Given the description of an element on the screen output the (x, y) to click on. 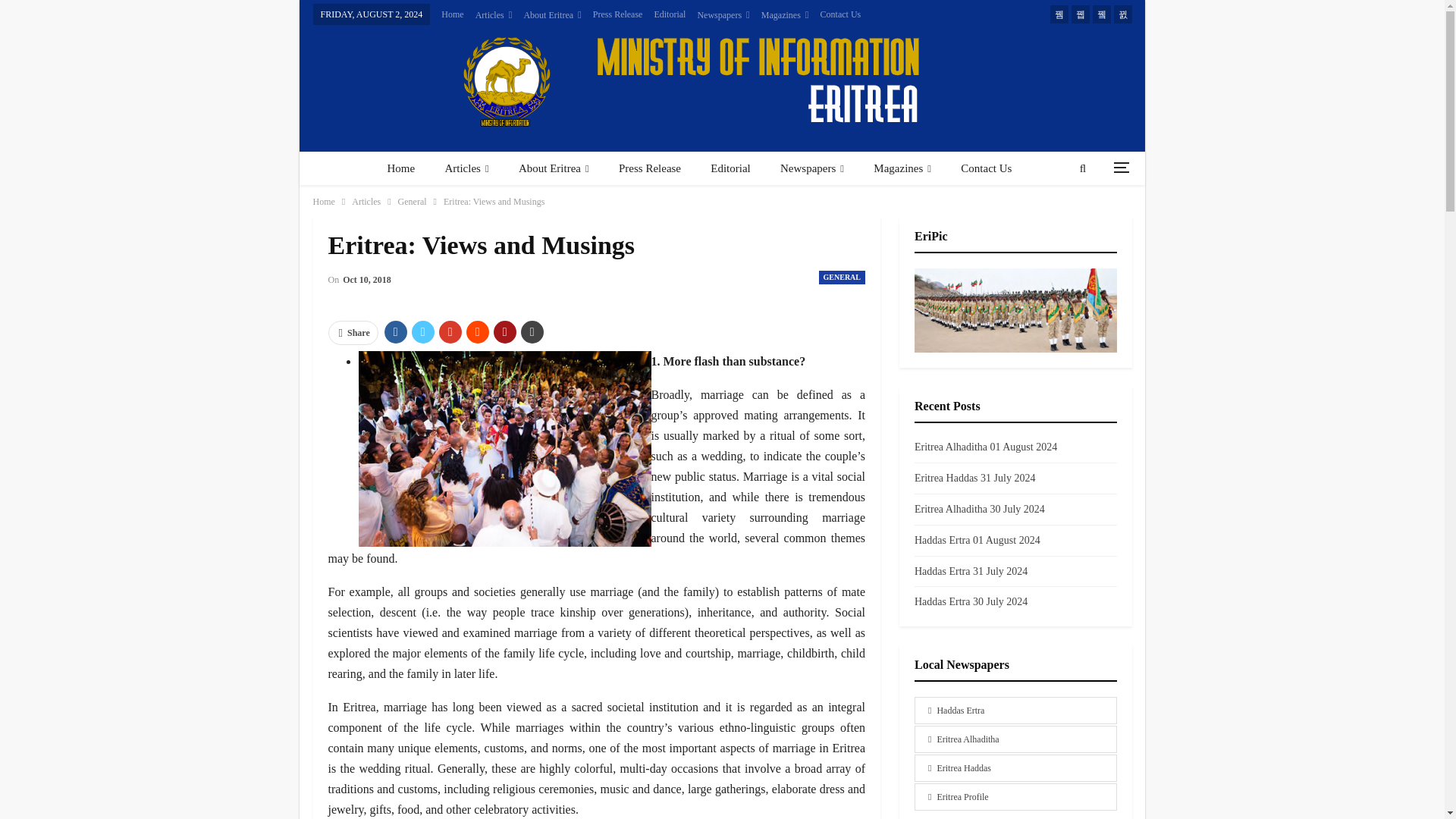
Home (400, 168)
Press Release (633, 14)
Contact Us (855, 14)
Articles (508, 14)
Editorial (685, 14)
About Eritrea (567, 14)
Newspapers (739, 14)
Home (468, 14)
Magazines (801, 14)
Articles (466, 168)
